Given the description of an element on the screen output the (x, y) to click on. 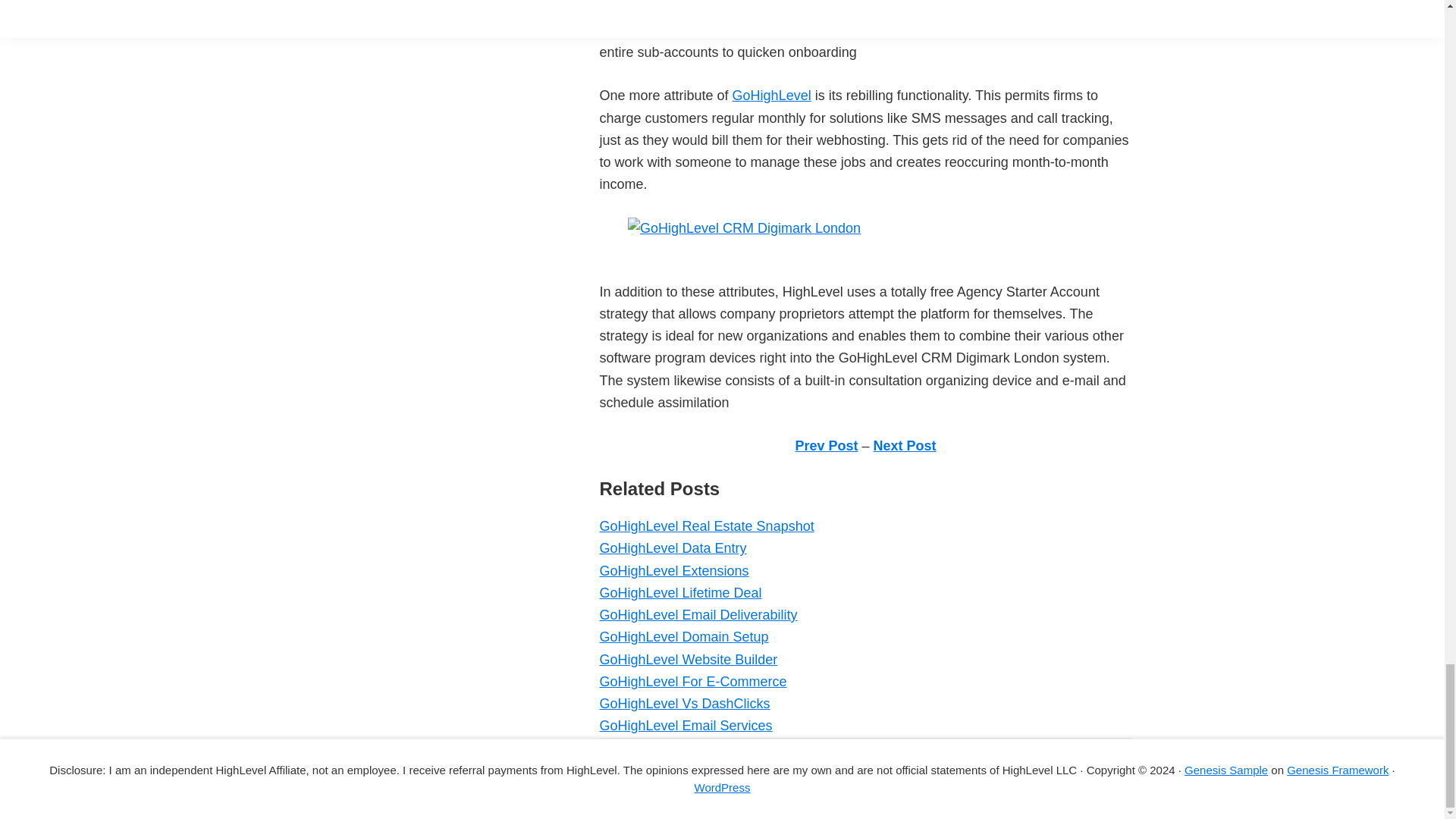
GoHighLevel Extensions (673, 570)
Prev Post (825, 445)
GoHighLevel (771, 95)
GoHighLevel Domain Setup (683, 636)
GoHighLevel Email Services (684, 725)
GoHighLevel Email Deliverability (697, 614)
GoHighLevel For E-Commerce (692, 681)
GoHighLevel Data Entry (671, 548)
GoHighLevel Lifetime Deal (679, 592)
GoHighLevel Website Builder (687, 659)
